Given the description of an element on the screen output the (x, y) to click on. 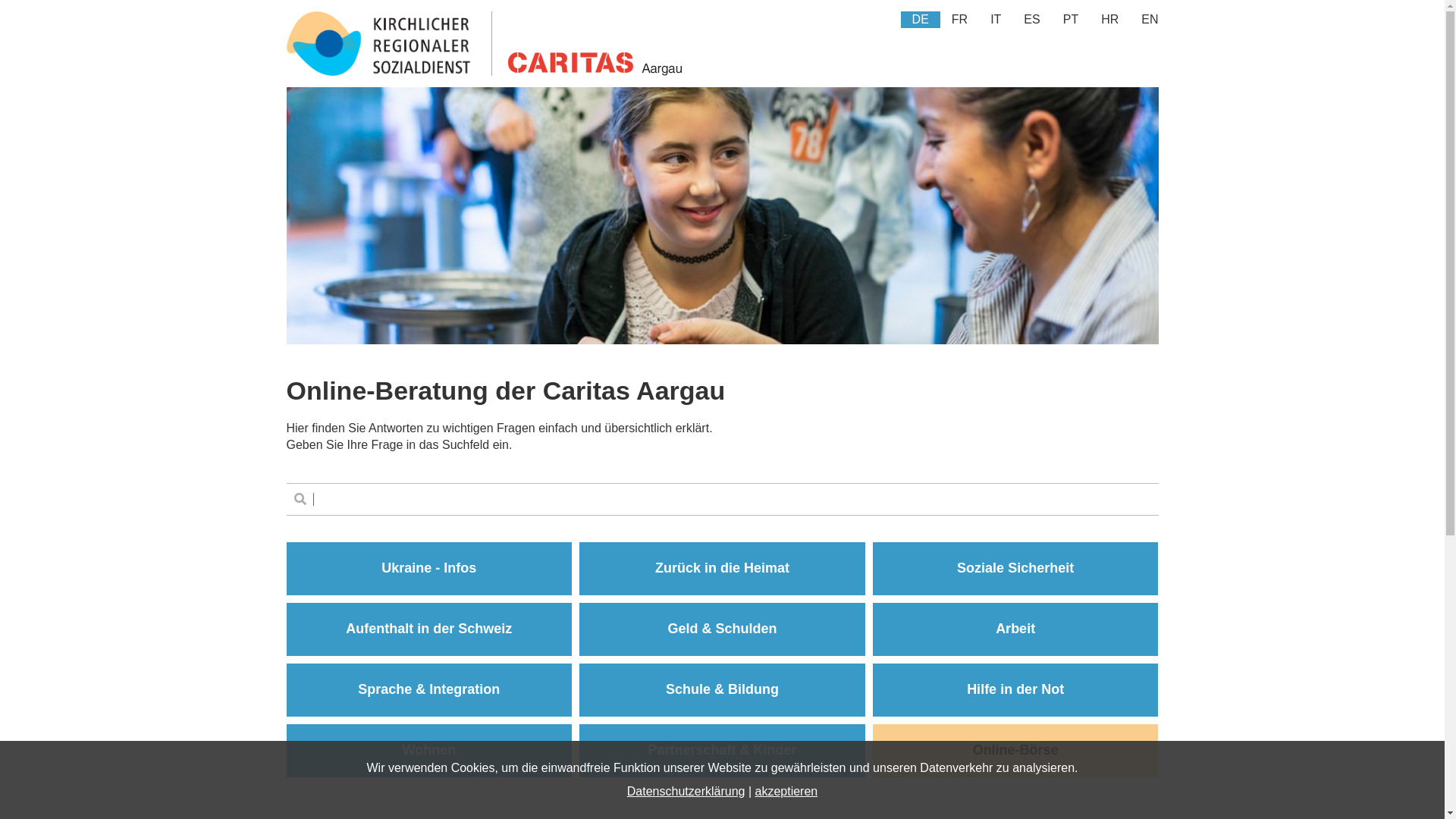
HR Element type: text (1109, 19)
ES Element type: text (1031, 19)
DE Element type: text (920, 19)
Ukraine - Infos Element type: text (429, 568)
EN Element type: text (1149, 19)
Partnerschaft & Kinder Element type: text (722, 750)
Soziale Sicherheit Element type: text (1015, 568)
Arbeit Element type: text (1015, 628)
PT Element type: text (1070, 19)
FR Element type: text (959, 19)
Wohnen Element type: text (429, 750)
Geld & Schulden Element type: text (722, 628)
Hilfe in der Not Element type: text (1015, 689)
Schule & Bildung Element type: text (722, 689)
IT Element type: text (995, 19)
Sprache & Integration Element type: text (429, 689)
akzeptieren Element type: text (785, 790)
Aufenthalt in der Schweiz Element type: text (429, 628)
